Given the description of an element on the screen output the (x, y) to click on. 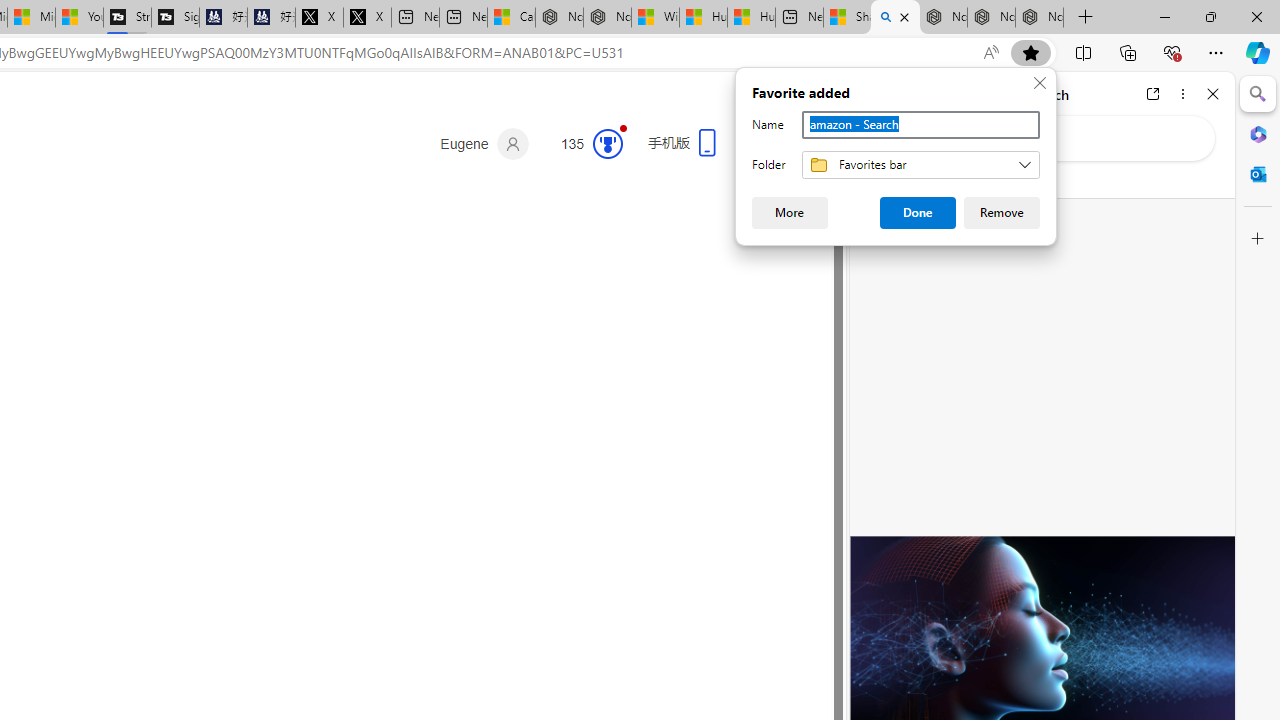
Class: outer-circle-animation (607, 143)
Open link in new tab (1153, 93)
Remove (1001, 212)
Done (918, 212)
Favorite name (920, 124)
Nordace - Siena Pro 15 Essential Set (1039, 17)
